Given the description of an element on the screen output the (x, y) to click on. 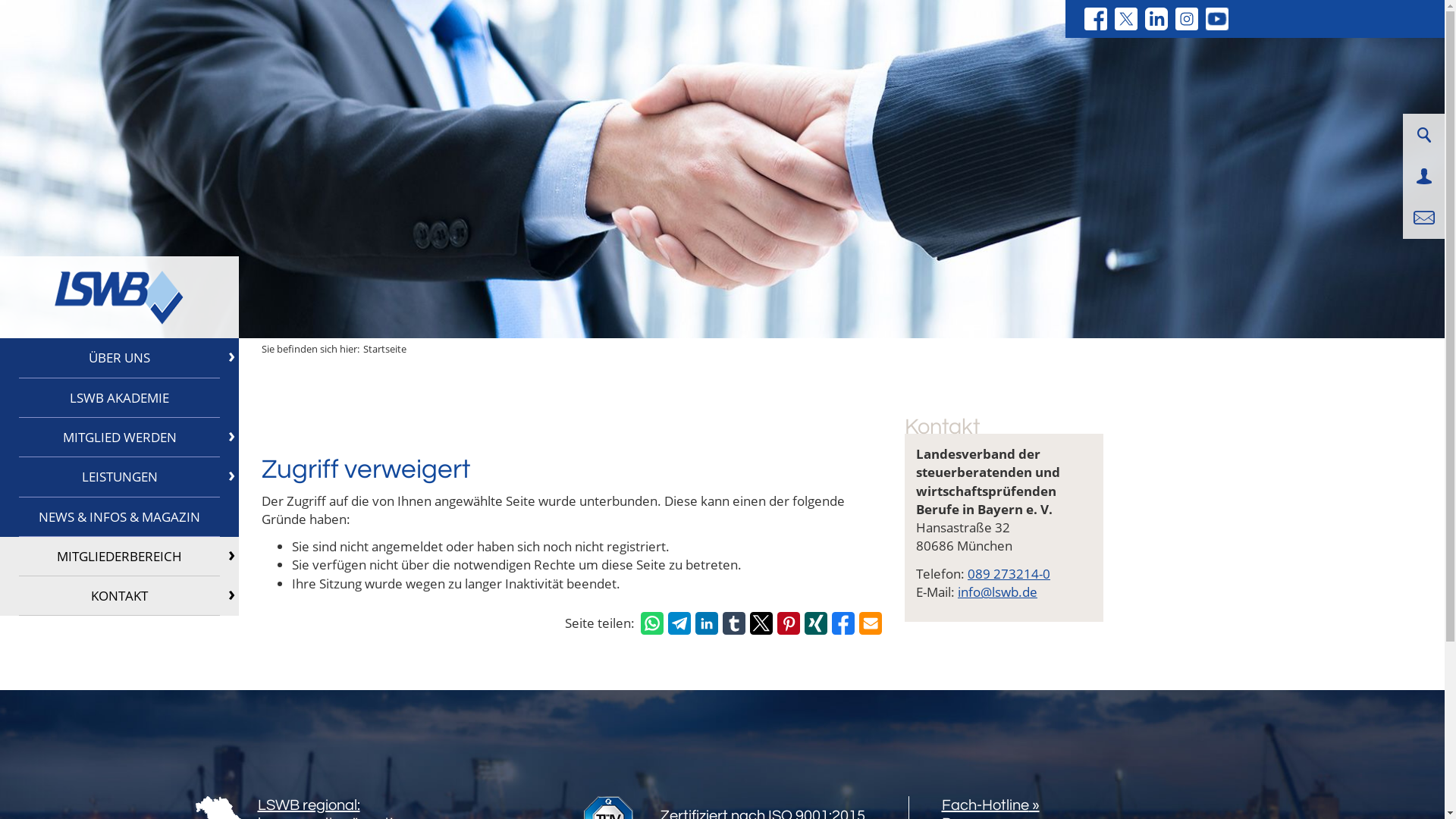
LSWB Element type: hover (119, 296)
Auf Linkedin teilen Element type: hover (706, 622)
Login Element type: hover (1423, 176)
KONTAKT Element type: text (119, 595)
Auf Tumblr teilen Element type: hover (733, 622)
Auf Facebook teilen Element type: hover (842, 622)
LSWB bei Twitter Element type: hover (1125, 18)
MITGLIED WERDEN Element type: text (119, 437)
In Pinterest speichern Element type: hover (788, 622)
089 273214-0 Element type: text (1008, 573)
info@lswb.de Element type: text (997, 591)
Suche Element type: hover (1423, 134)
LEISTUNGEN Element type: text (119, 476)
LSWB bei LinkedIn Element type: hover (1156, 18)
LSWB AKADEMIE Element type: text (119, 397)
MITGLIEDERBEREICH Element type: text (119, 556)
In Telegram teilen Element type: hover (679, 622)
NEWS & INFOS & MAGAZIN Element type: text (119, 516)
Startseite Element type: text (384, 348)
Auf Twitter teilen Element type: hover (760, 622)
Auf Xing empfehlen Element type: hover (815, 622)
LSWB bei Youtube Element type: hover (1216, 18)
LSWB bei Instagram Element type: hover (1186, 18)
In Whatsapp teilen Element type: hover (651, 622)
Kontakt Element type: hover (1423, 217)
LSWB bei Facebook Element type: hover (1095, 18)
Fach-Hotline Element type: text (989, 804)
Teilen per Mail! Element type: hover (870, 622)
